Given the description of an element on the screen output the (x, y) to click on. 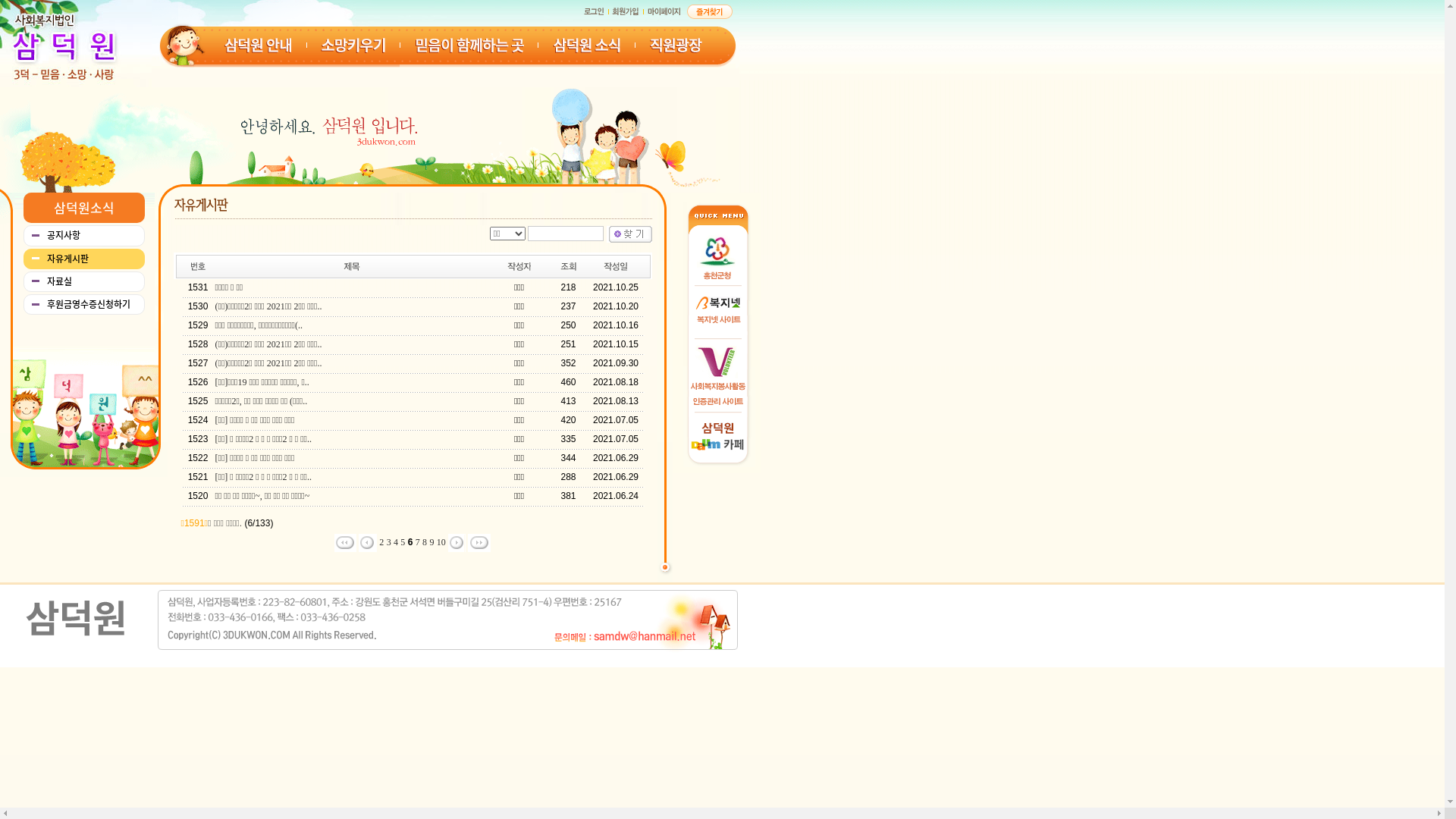
2 Element type: text (381, 541)
5 Element type: text (402, 541)
4 Element type: text (395, 541)
10 Element type: text (440, 541)
3 Element type: text (388, 541)
9 Element type: text (431, 541)
7 Element type: text (417, 541)
8 Element type: text (424, 541)
